Given the description of an element on the screen output the (x, y) to click on. 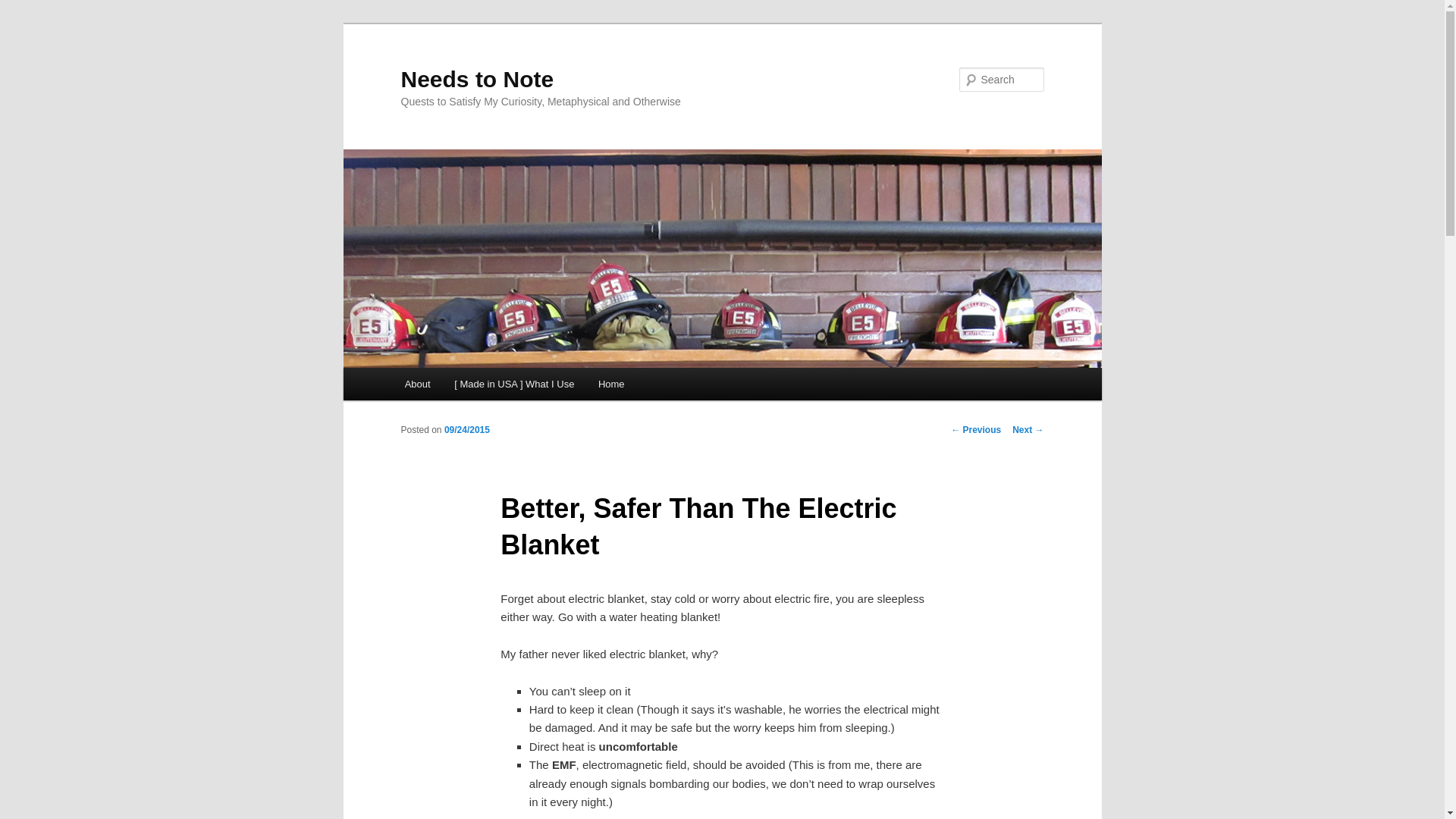
Home (611, 383)
About (417, 383)
Made in USA products I actually use (514, 383)
Needs to Note (476, 78)
Search (24, 8)
7:42 pm (466, 429)
